Given the description of an element on the screen output the (x, y) to click on. 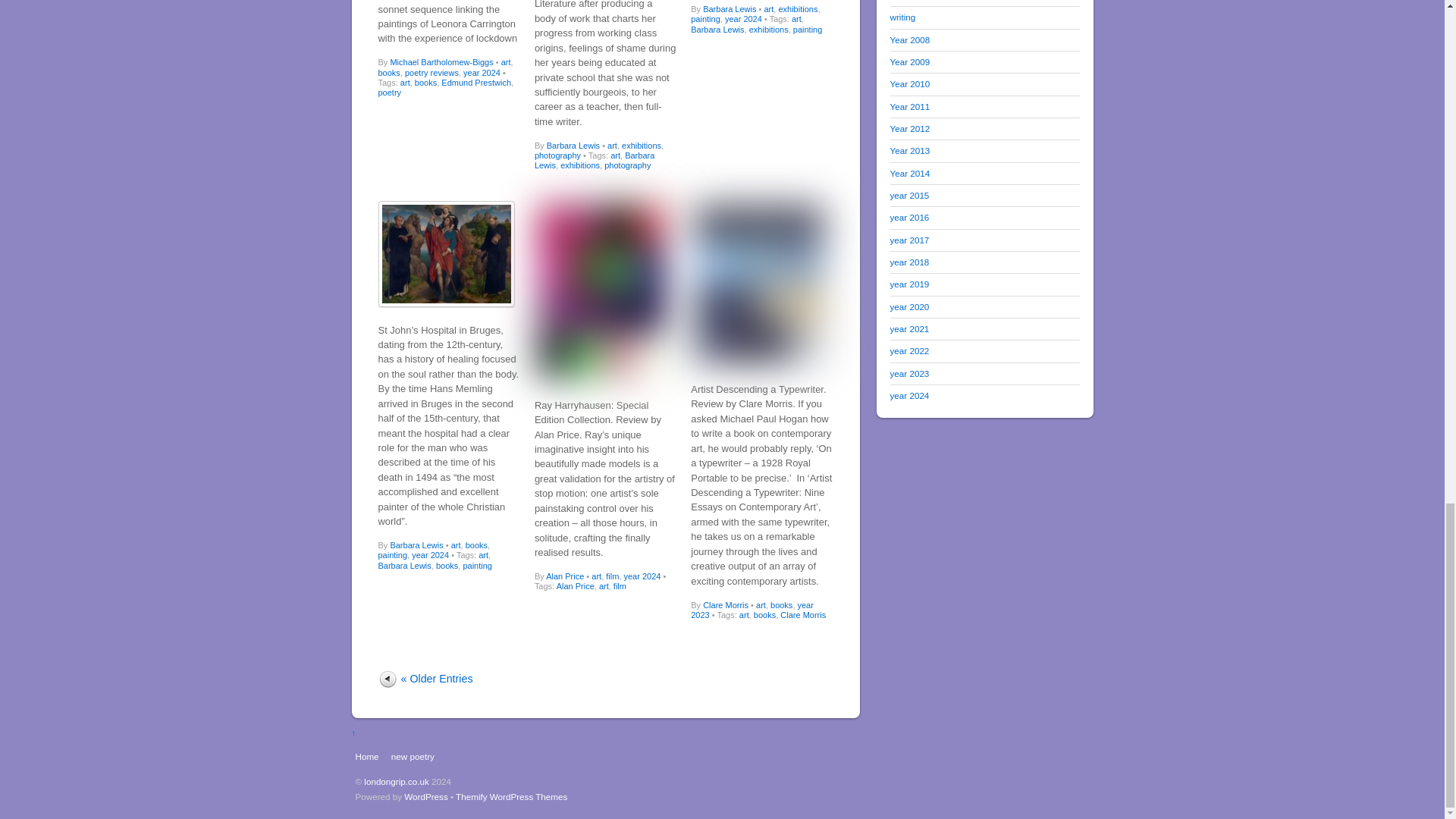
HansMemling (445, 253)
